Given the description of an element on the screen output the (x, y) to click on. 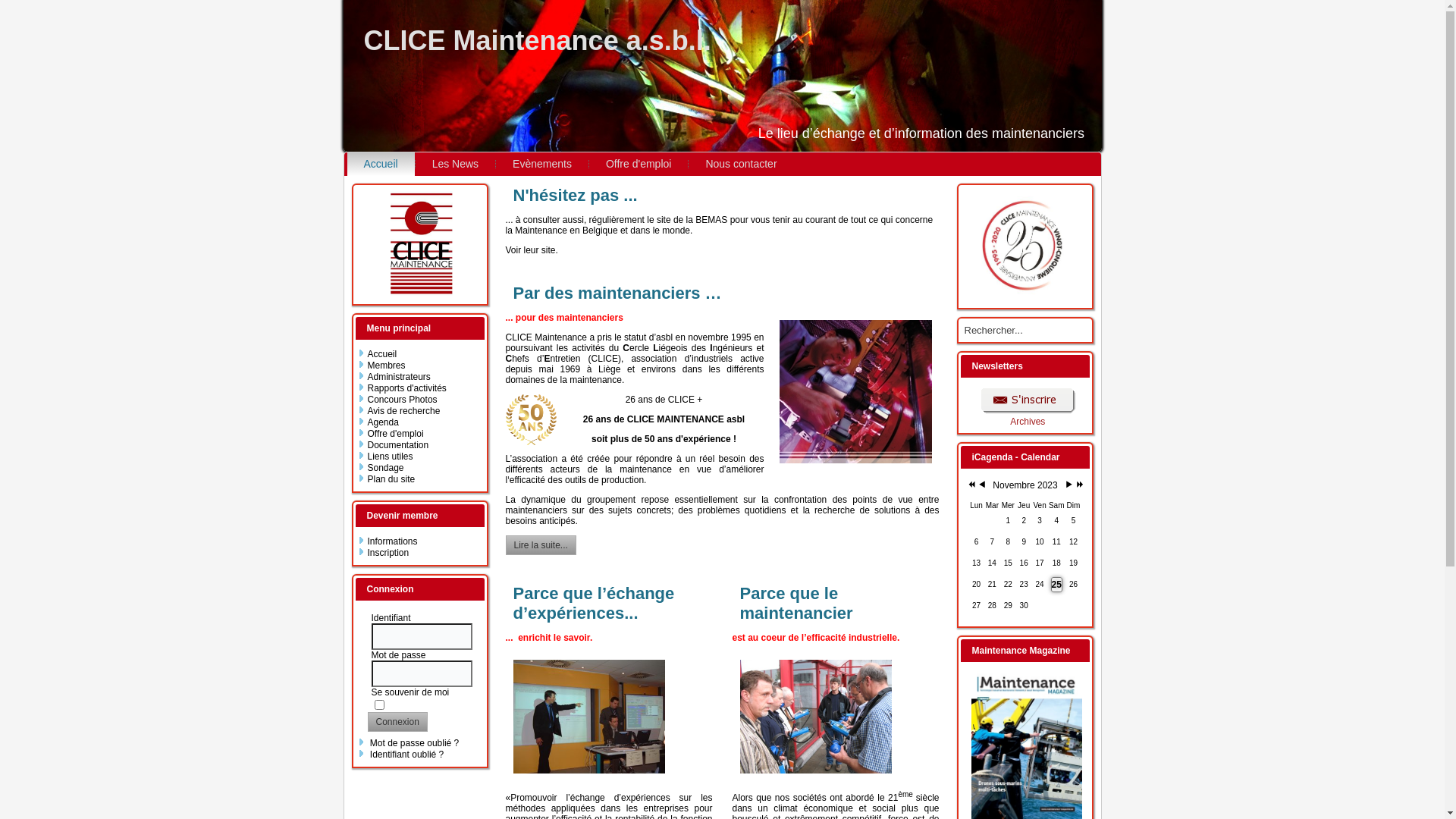
Archives Element type: text (1027, 421)
Les News Element type: text (455, 163)
Previous Month Element type: text (980, 485)
Liens utiles Element type: text (389, 456)
Offre d'emploi Element type: text (638, 163)
Accueil Element type: text (380, 163)
Administrateurs Element type: text (398, 376)
Plan du site Element type: text (390, 478)
Accueil Element type: text (381, 353)
Voir leur site. Element type: text (531, 249)
Documentation Element type: text (397, 444)
Offre d'emploi Element type: text (395, 433)
CLICE Maintenance a.s.b.l. Element type: text (537, 40)
Concours Photos Element type: text (401, 399)
Agenda Element type: text (382, 422)
Inscription Element type: text (387, 552)
Connexion Element type: text (396, 721)
Previous Year Element type: text (969, 485)
Lire la suite... Element type: text (540, 545)
Avis de recherche Element type: text (403, 410)
Sondage Element type: text (385, 467)
Informations Element type: text (392, 541)
Nous contacter Element type: text (740, 163)
Membres Element type: text (385, 365)
Next Year Element type: text (1078, 485)
Next Month Element type: text (1068, 485)
